Given the description of an element on the screen output the (x, y) to click on. 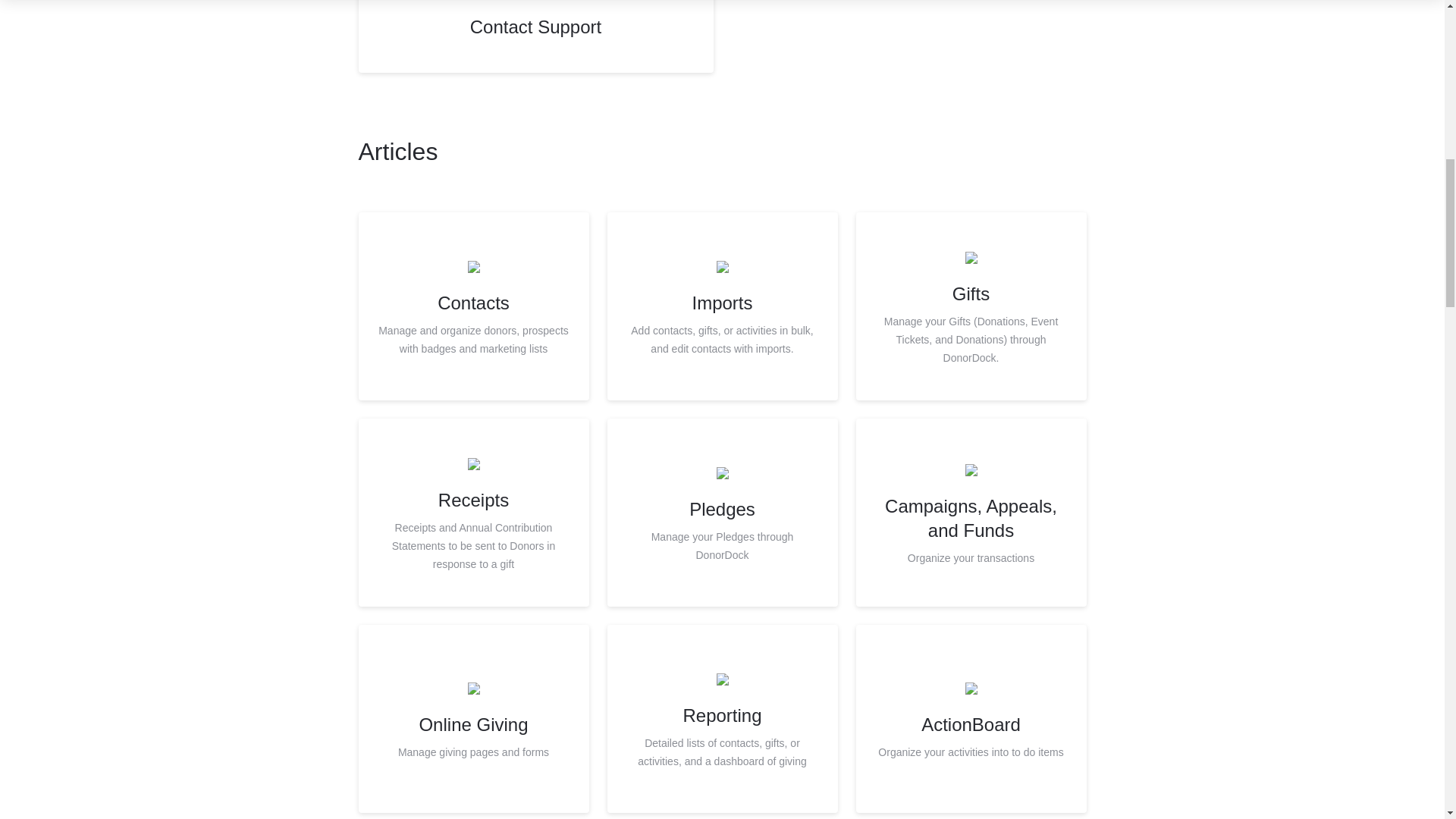
Contact Support (722, 512)
